Given the description of an element on the screen output the (x, y) to click on. 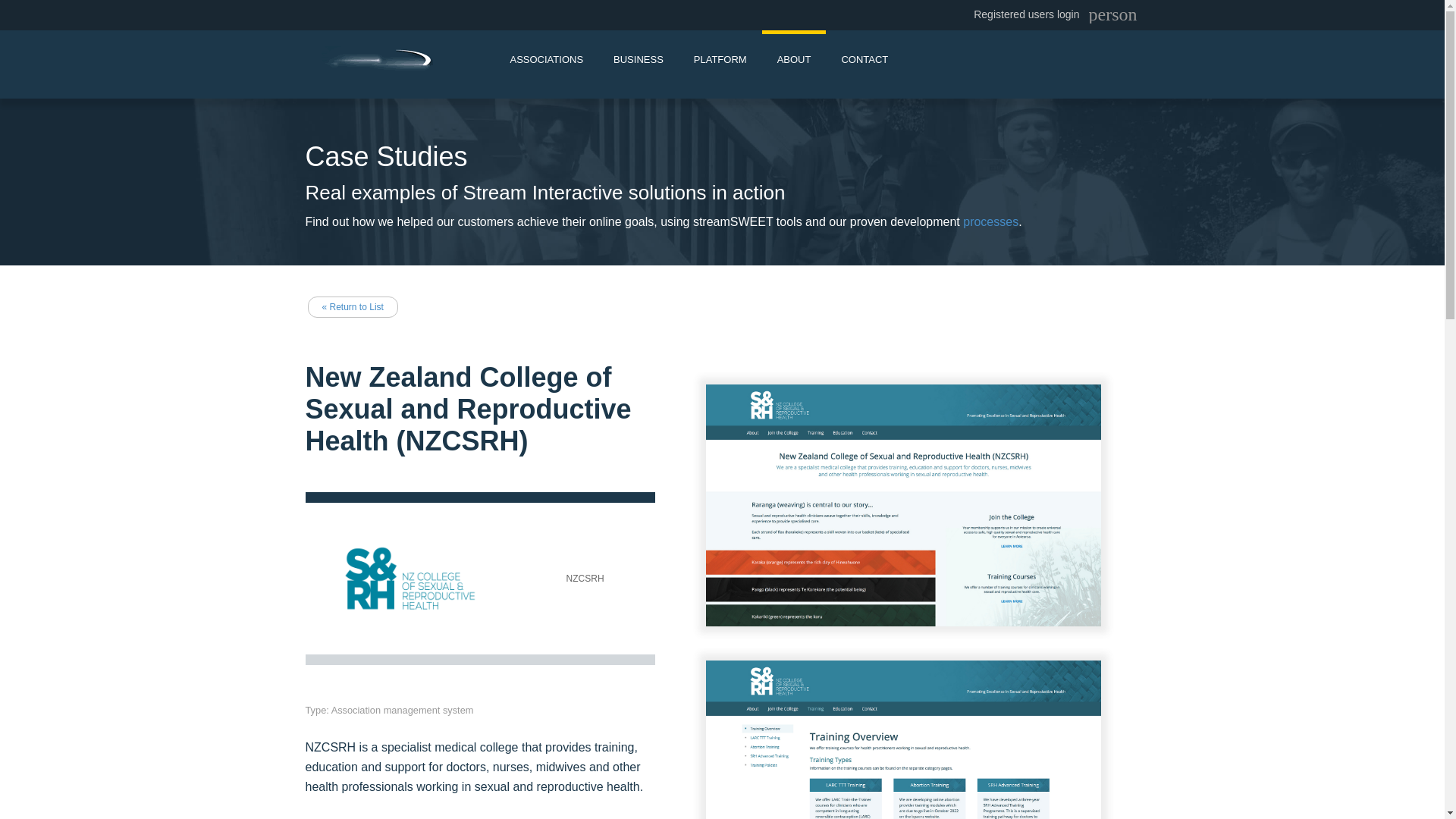
processes (989, 221)
Registered users login (1026, 14)
NZCSRH Homepage (903, 505)
BUSINESS (638, 57)
NZCSRH Training (903, 739)
PLATFORM (719, 57)
ASSOCIATIONS (546, 57)
CONTACT (863, 57)
ABOUT (794, 57)
